Given the description of an element on the screen output the (x, y) to click on. 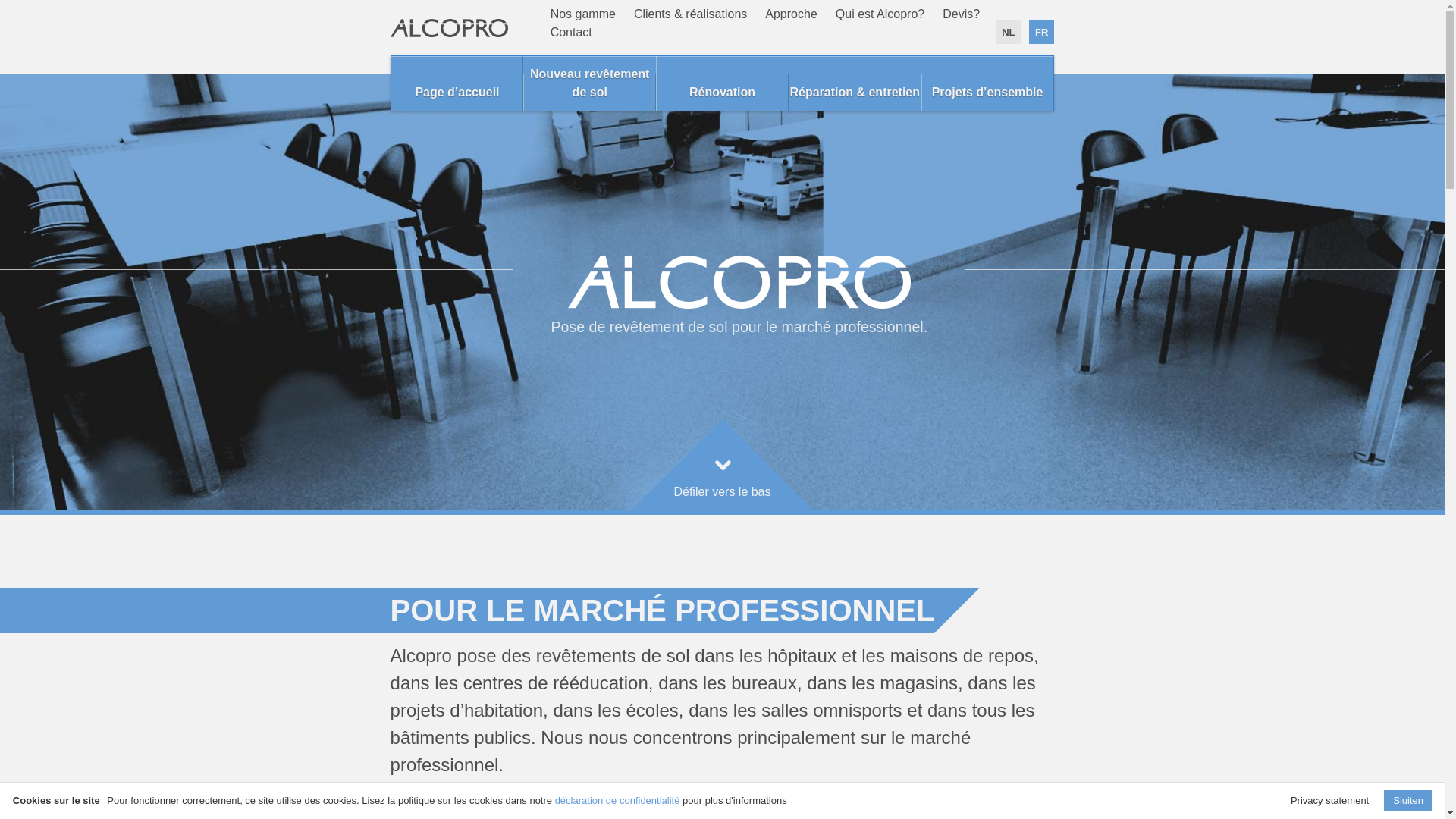
NL Element type: text (1007, 31)
Qui est Alcopro? Element type: text (879, 13)
Contact Element type: text (571, 31)
En savoir plus sur nos clients. > Element type: text (518, 800)
Sluiten Element type: text (1407, 800)
FR Element type: text (1041, 31)
Nos gamme Element type: text (582, 13)
Approche Element type: text (791, 13)
Privacy statement Element type: text (1329, 800)
Devis? Element type: text (960, 13)
